Given the description of an element on the screen output the (x, y) to click on. 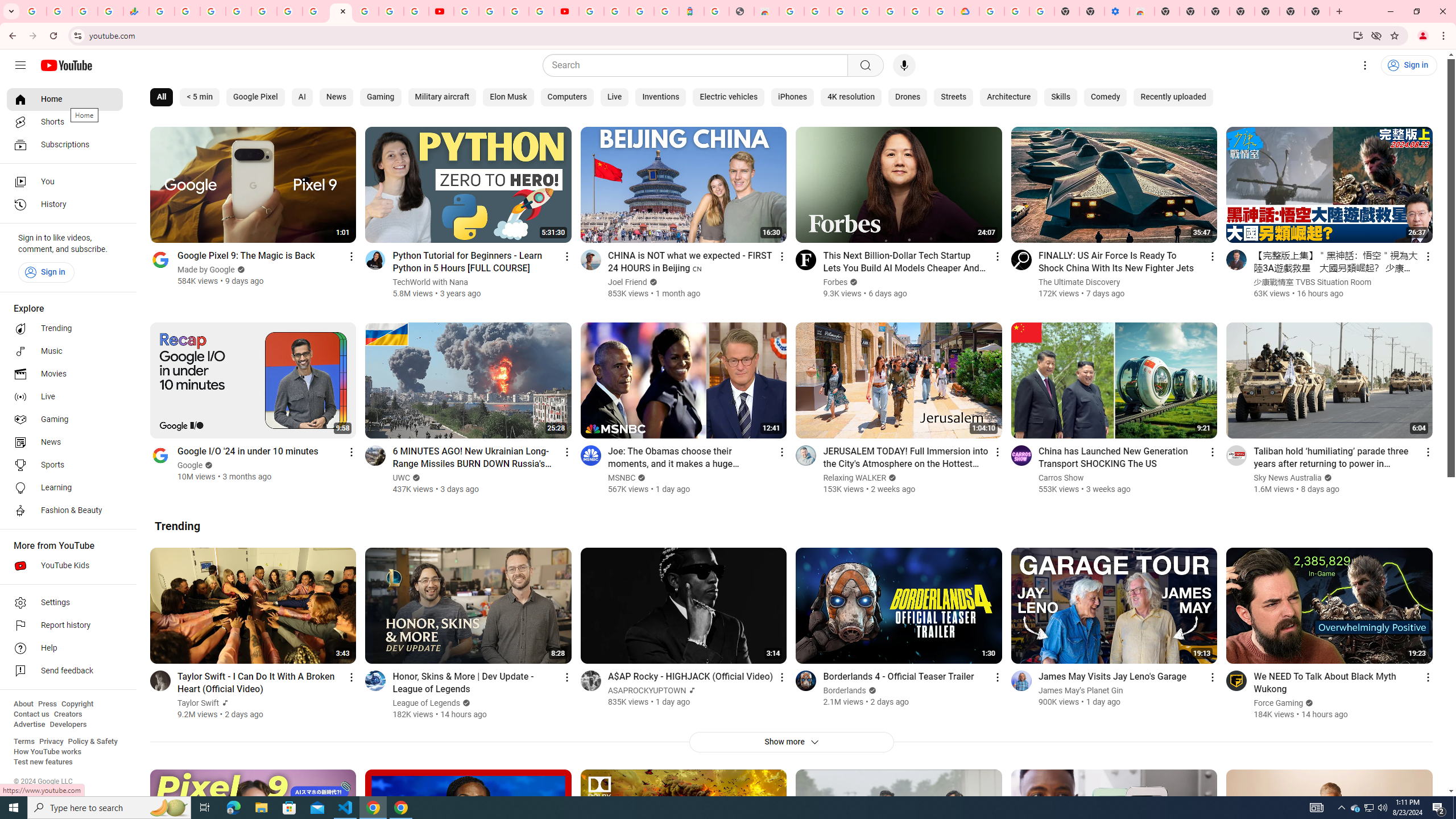
Elon Musk (508, 97)
Shorts (64, 121)
Developers (68, 724)
Report history (64, 625)
Advertise (29, 724)
Test new features (42, 761)
Install YouTube (1358, 35)
Home (64, 99)
Settings (1365, 65)
